Given the description of an element on the screen output the (x, y) to click on. 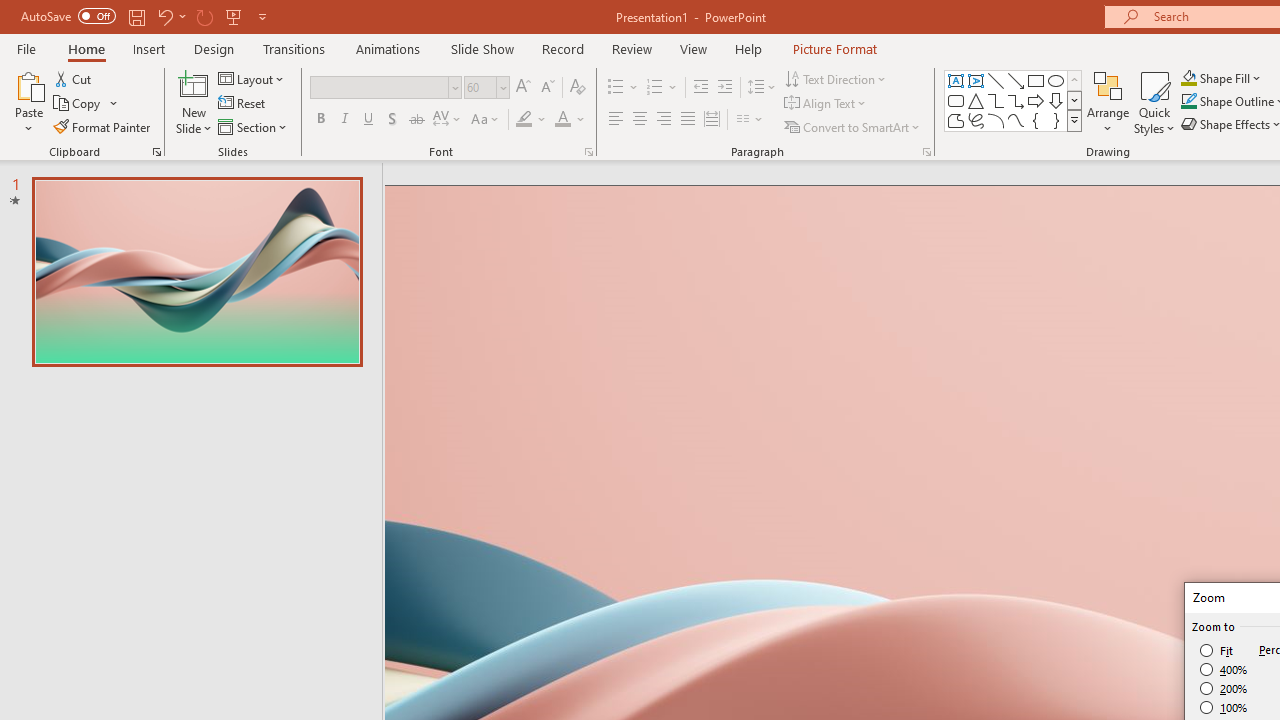
Rectangle: Rounded Corners (955, 100)
Paragraph... (926, 151)
Freeform: Scribble (975, 120)
400% (1224, 669)
Connector: Elbow Arrow (1016, 100)
Font Color (569, 119)
Numbering (661, 87)
Left Brace (1035, 120)
Isosceles Triangle (975, 100)
Numbering (654, 87)
